Given the description of an element on the screen output the (x, y) to click on. 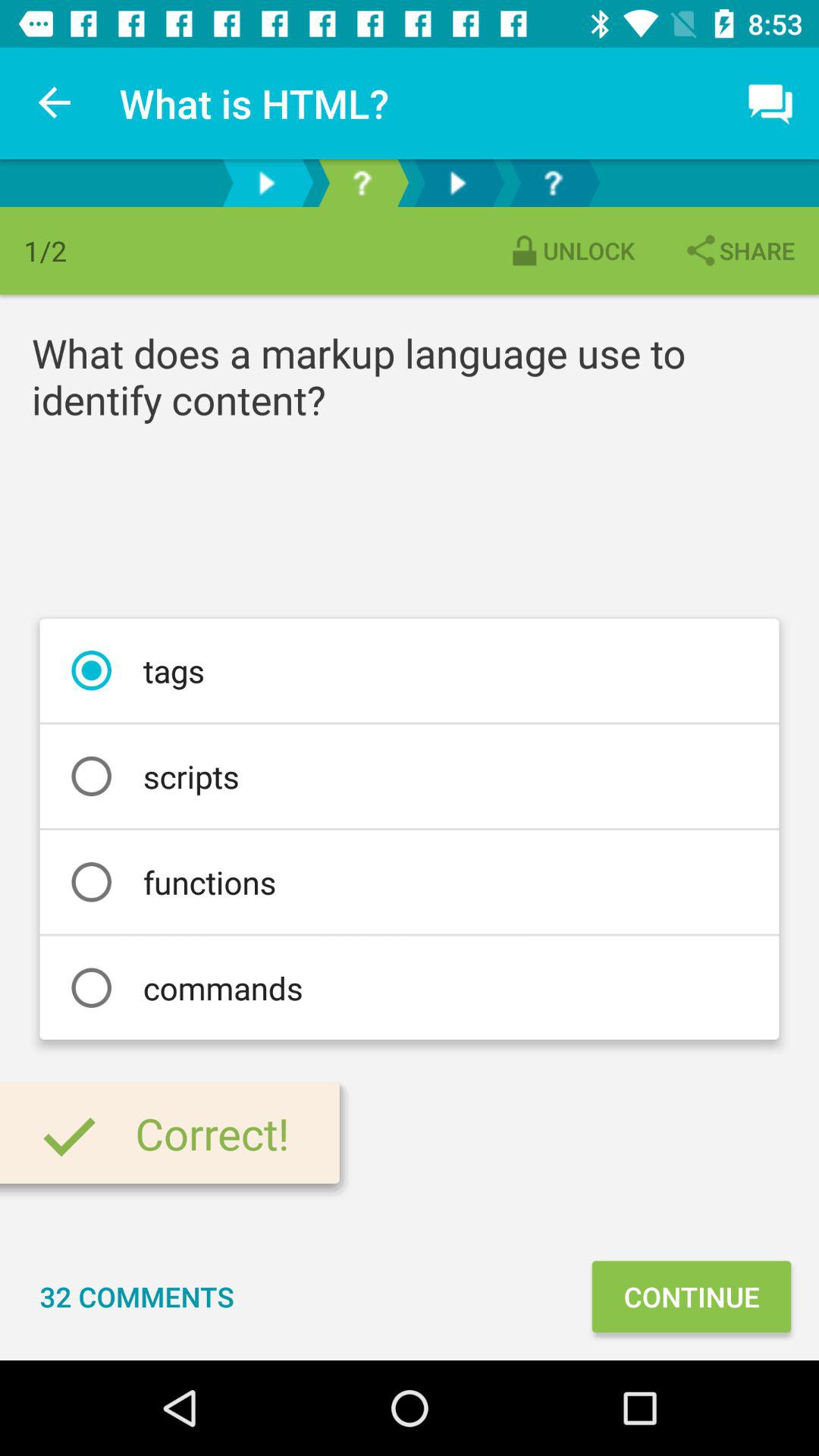
next (265, 183)
